Given the description of an element on the screen output the (x, y) to click on. 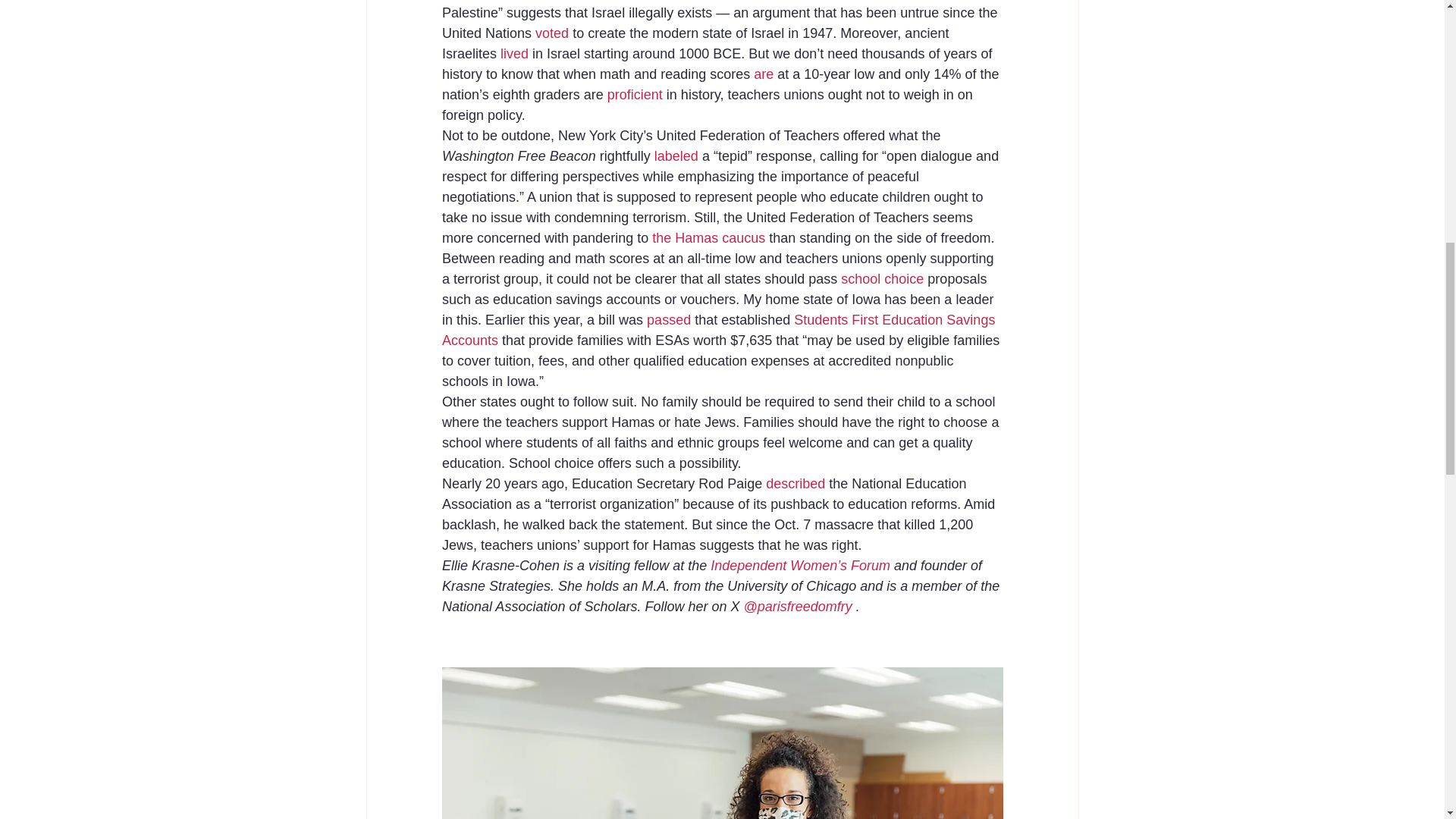
passed (668, 319)
lived (514, 53)
Students First Education Savings Accounts (719, 330)
the Hamas caucus (708, 237)
school choice (882, 278)
voted (552, 32)
described (795, 483)
are (763, 73)
labeled (675, 155)
proficient  (636, 94)
